Given the description of an element on the screen output the (x, y) to click on. 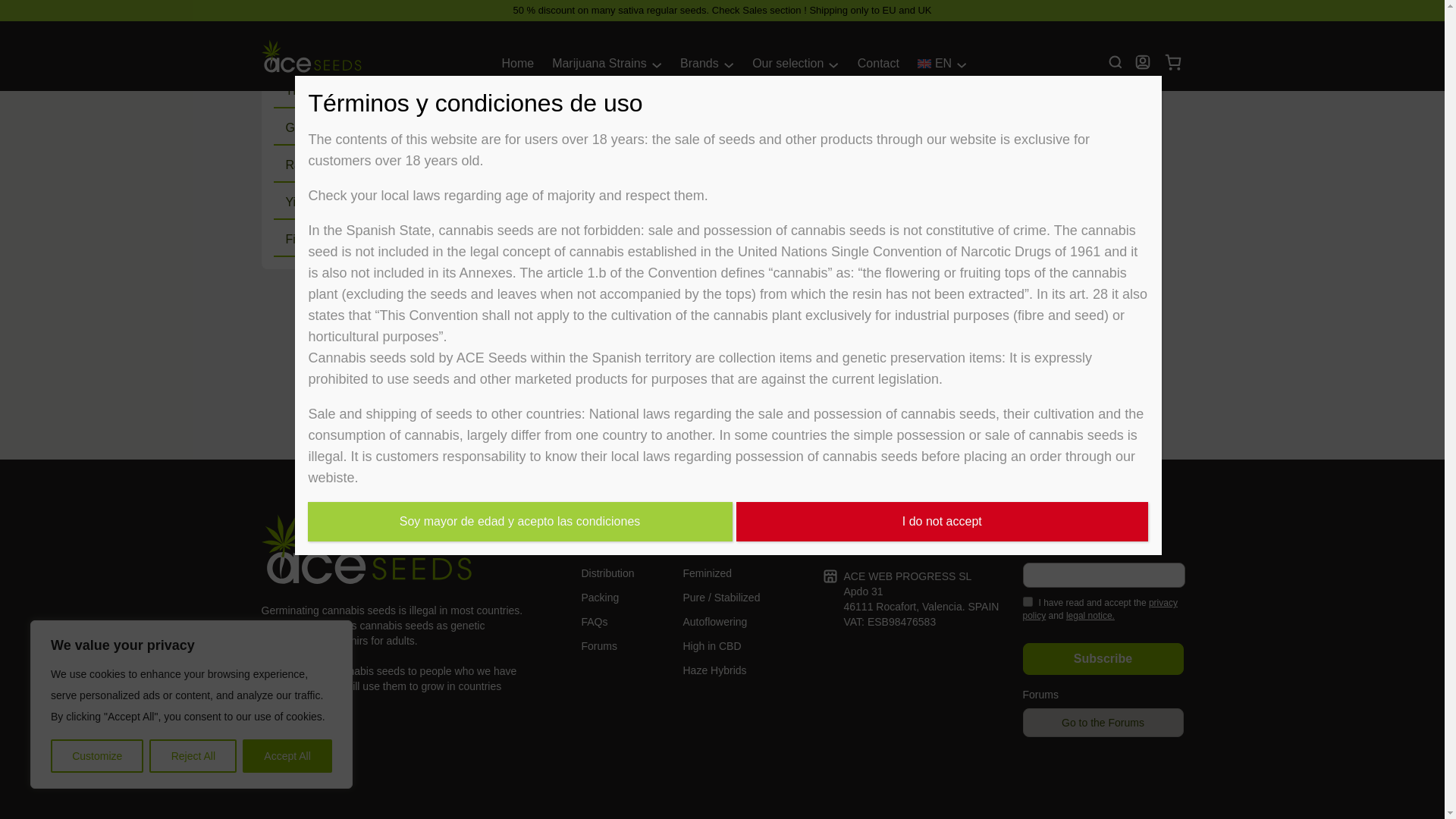
Reject All (192, 658)
Accept All (287, 658)
Subscribe (1102, 658)
1 (1027, 601)
Customize (96, 658)
